Given the description of an element on the screen output the (x, y) to click on. 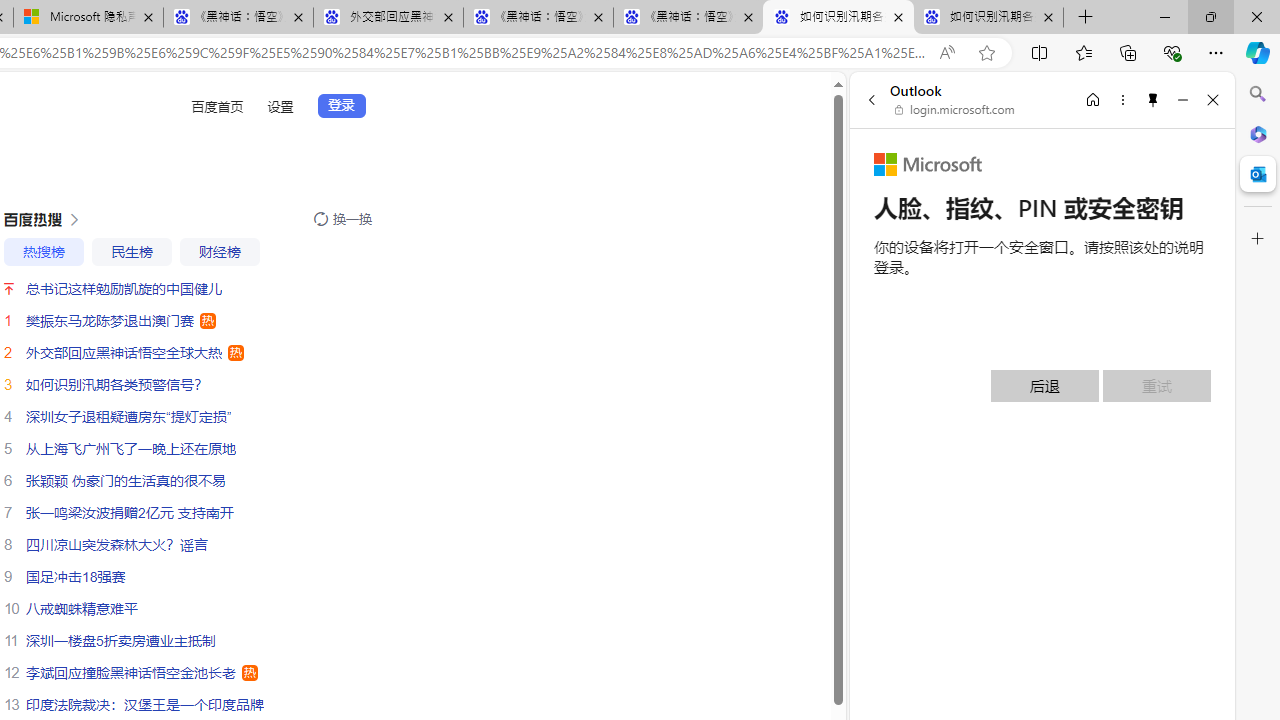
login.microsoft.com (955, 110)
